Given the description of an element on the screen output the (x, y) to click on. 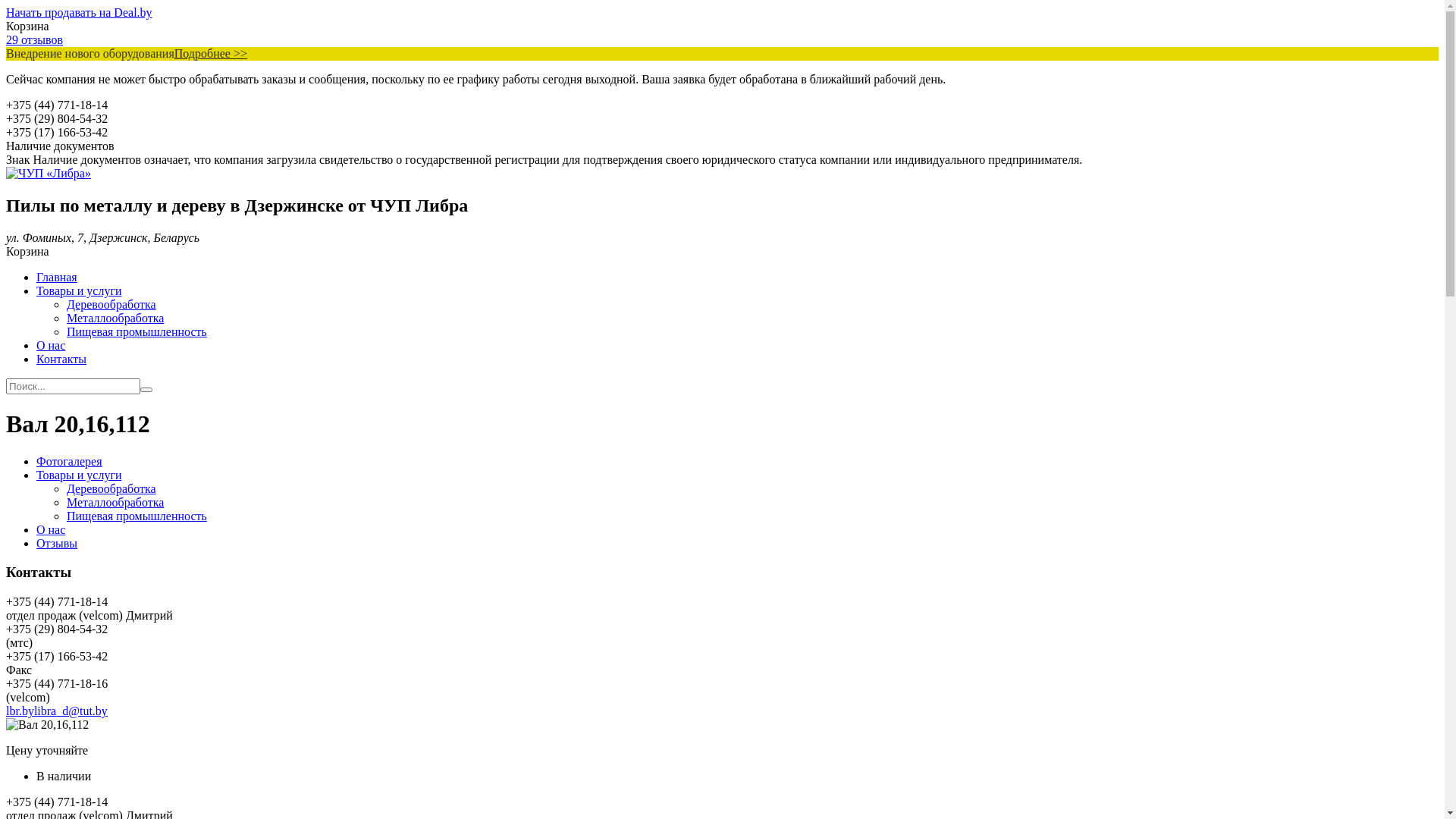
libra_d@tut.by Element type: text (70, 710)
lbr.by Element type: text (20, 710)
